Given the description of an element on the screen output the (x, y) to click on. 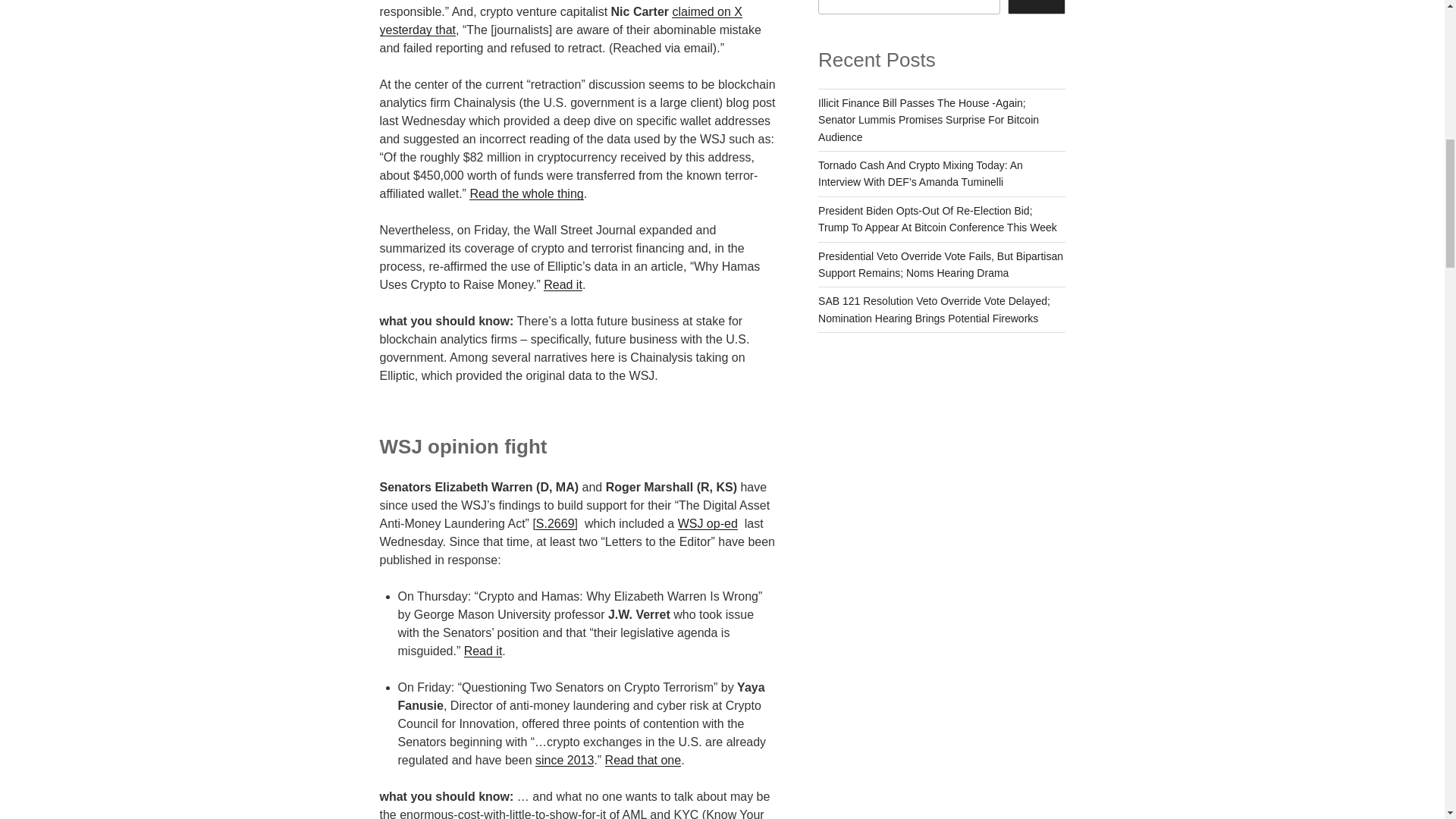
Read it (483, 650)
since 2013 (564, 759)
Read that one (643, 759)
WSJ op-ed (708, 522)
Read the whole thing (525, 193)
S.2669 (555, 522)
claimed on X yesterday that (559, 20)
Read it (562, 284)
